Given the description of an element on the screen output the (x, y) to click on. 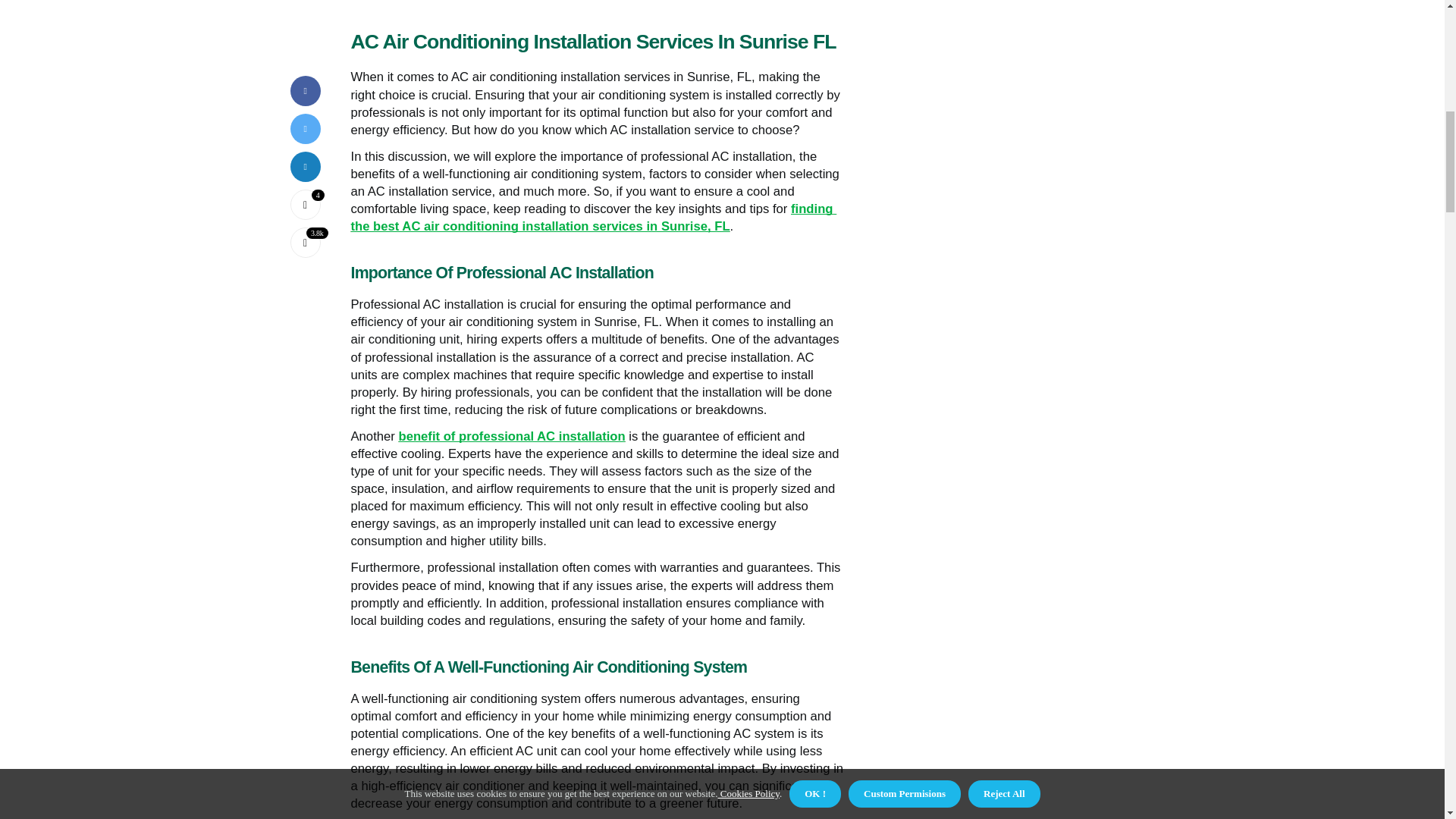
benefit of professional AC installation (510, 436)
